Given the description of an element on the screen output the (x, y) to click on. 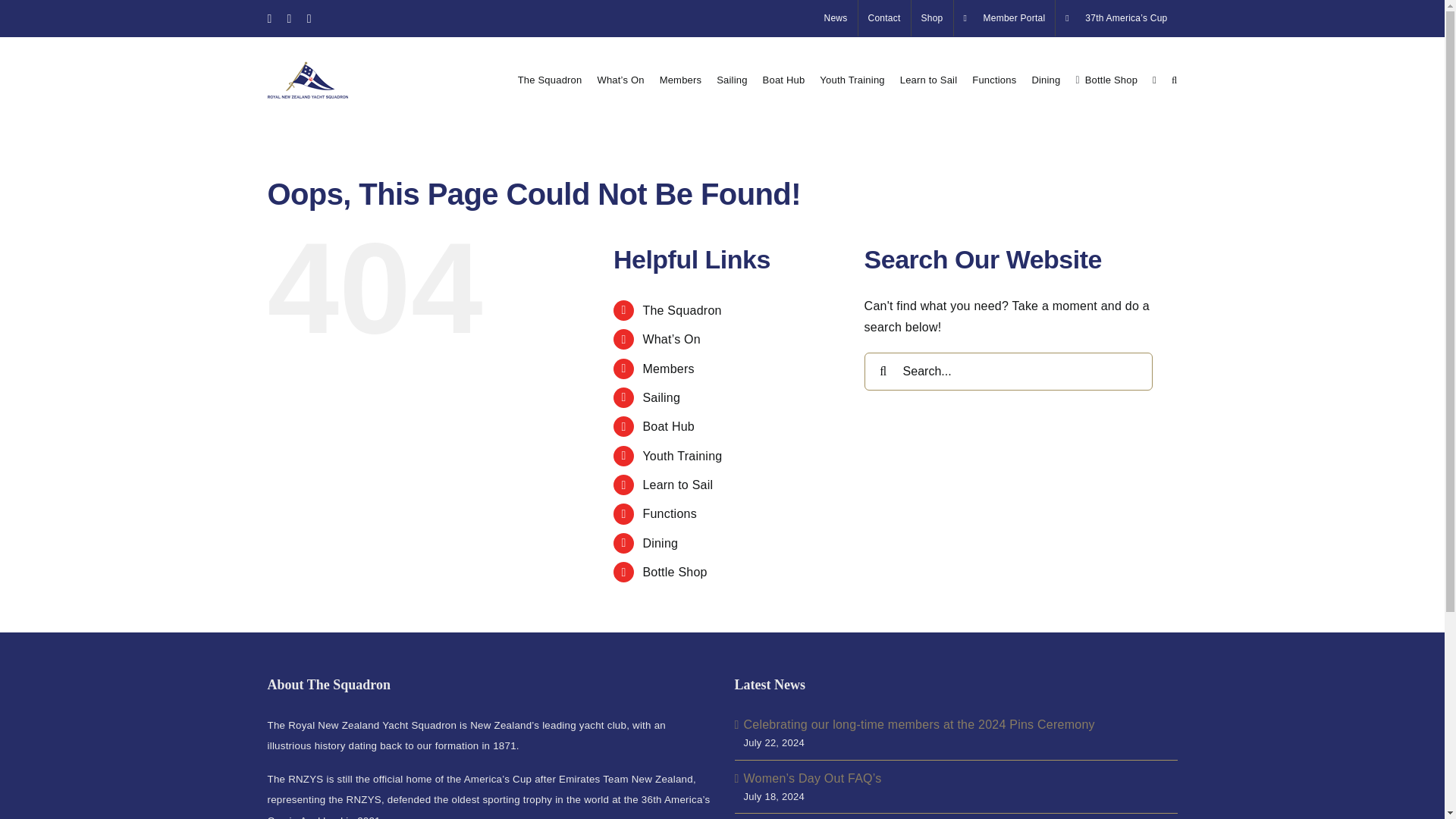
Contact (885, 18)
Member Portal (1004, 18)
The Squadron (550, 79)
Shop (932, 18)
Boat Hub (783, 79)
Facebook (268, 18)
Email (309, 18)
Sailing (731, 79)
News (835, 18)
Members (680, 79)
Instagram (289, 18)
